Given the description of an element on the screen output the (x, y) to click on. 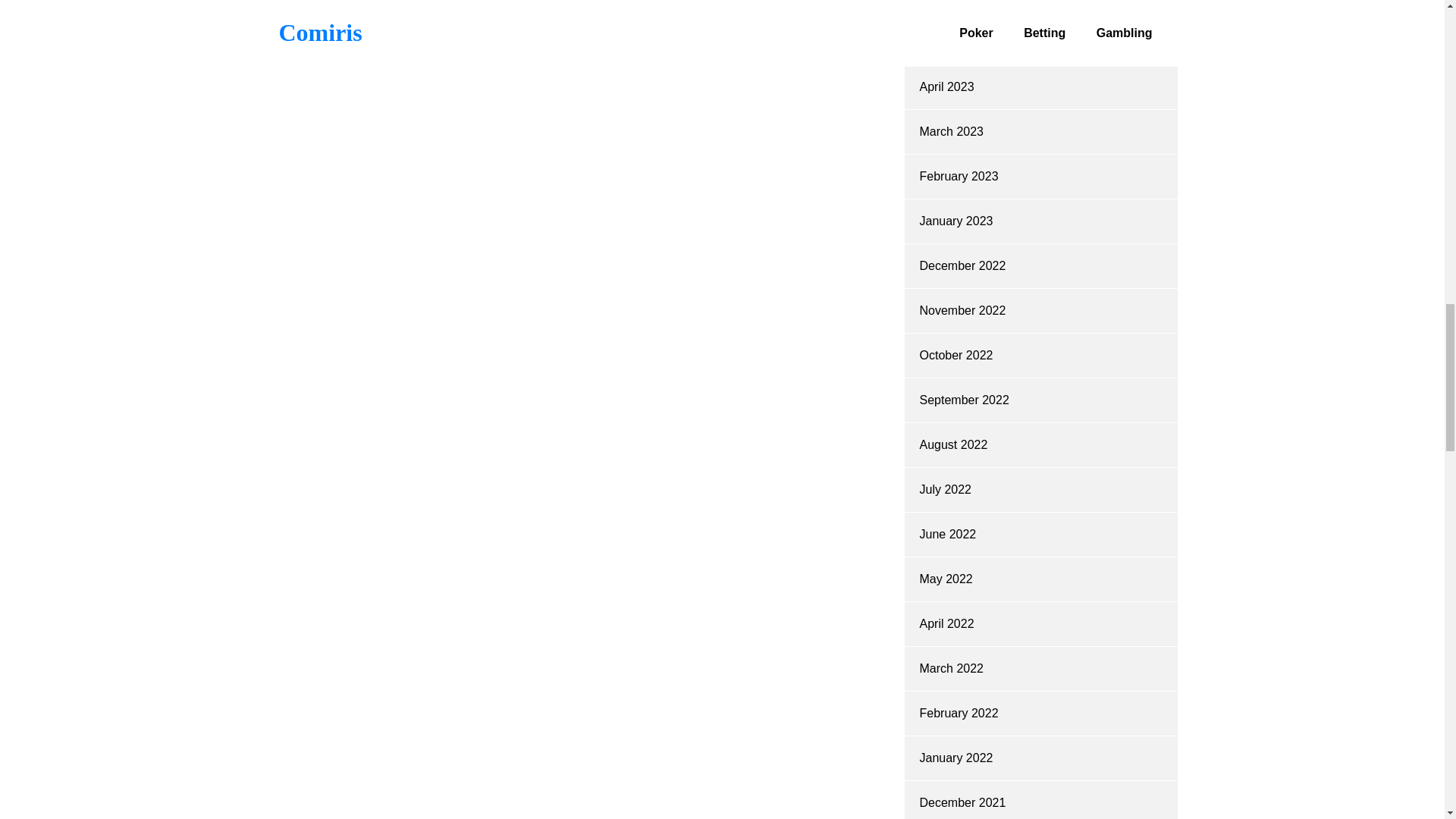
January 2023 (955, 220)
November 2022 (962, 309)
April 2023 (946, 86)
March 2023 (951, 131)
September 2022 (963, 399)
August 2022 (952, 444)
May 2023 (945, 42)
June 2023 (946, 2)
December 2022 (962, 265)
February 2023 (957, 175)
October 2022 (955, 354)
